Given the description of an element on the screen output the (x, y) to click on. 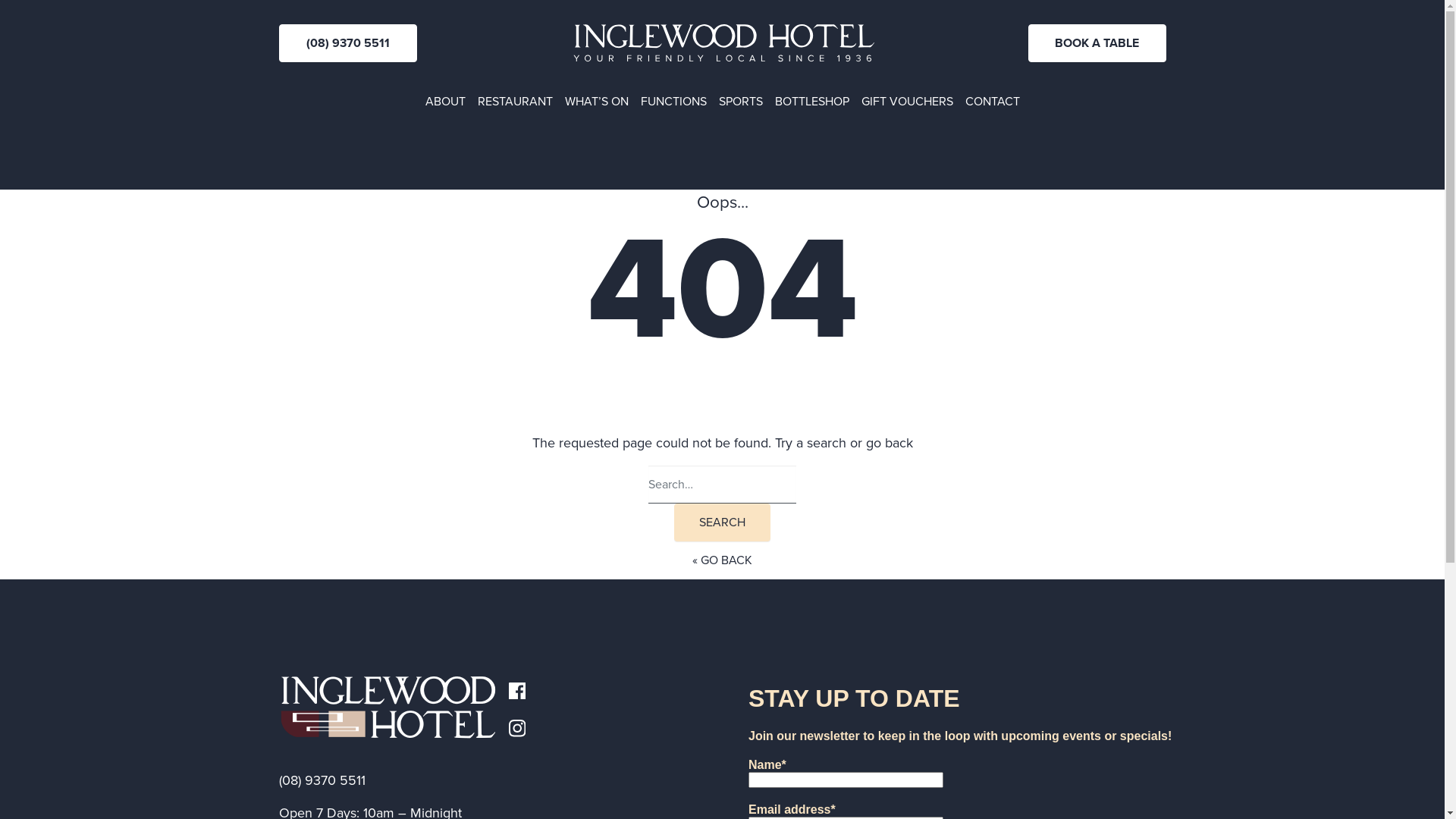
SPORTS Element type: text (740, 101)
BOOK A TABLE Element type: text (1097, 43)
(08) 9370 5511 Element type: text (348, 43)
BOTTLESHOP Element type: text (811, 101)
Instagram Element type: text (516, 727)
Facebook Element type: text (516, 689)
ABOUT Element type: text (444, 101)
GIFT VOUCHERS Element type: text (907, 101)
SEARCH Element type: text (722, 522)
RESTAURANT Element type: text (514, 101)
FUNCTIONS Element type: text (672, 101)
CONTACT Element type: text (991, 101)
